Given the description of an element on the screen output the (x, y) to click on. 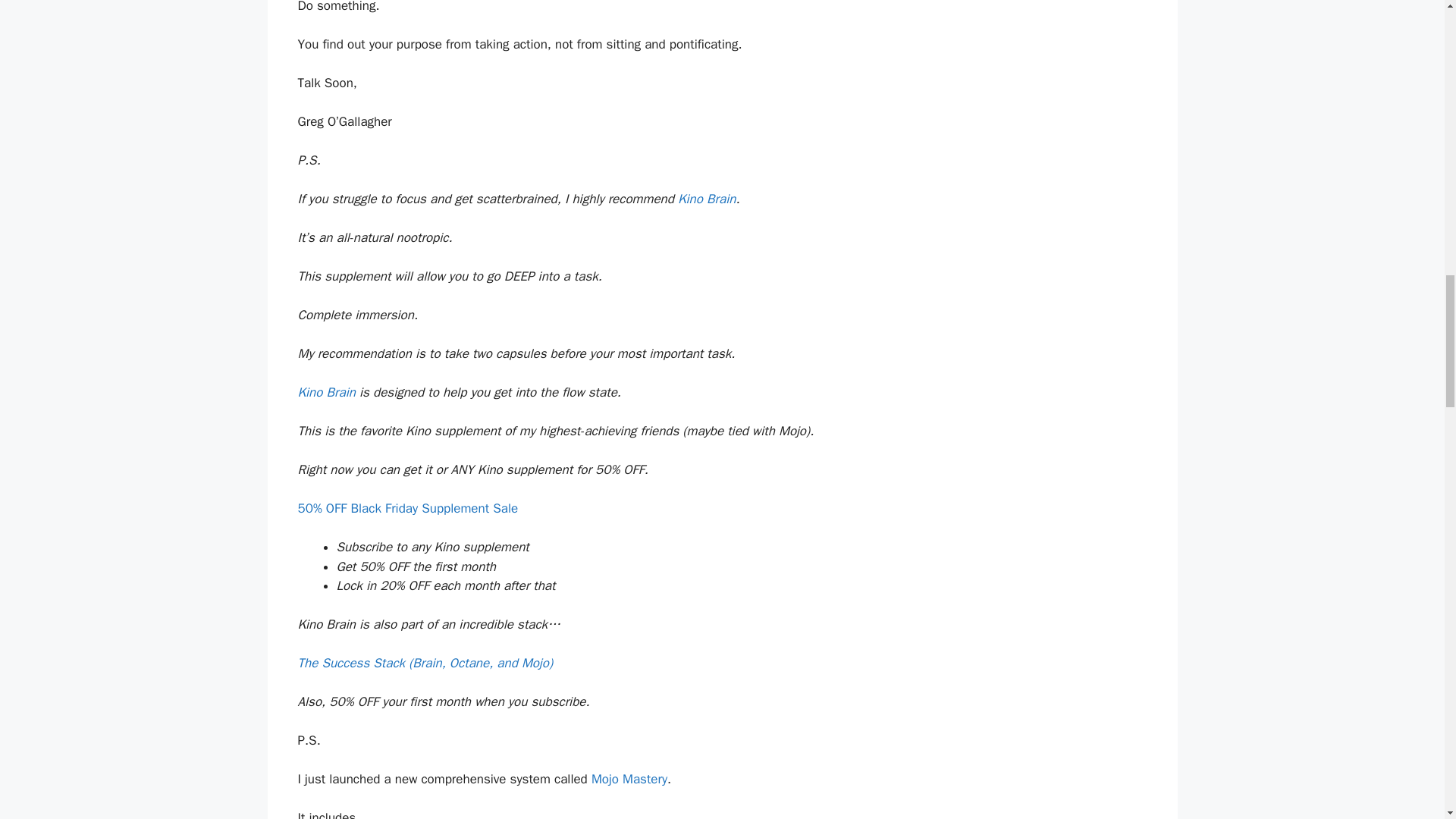
Mojo Mastery (628, 779)
Kino Brain (706, 198)
Kino Brain (326, 392)
